Given the description of an element on the screen output the (x, y) to click on. 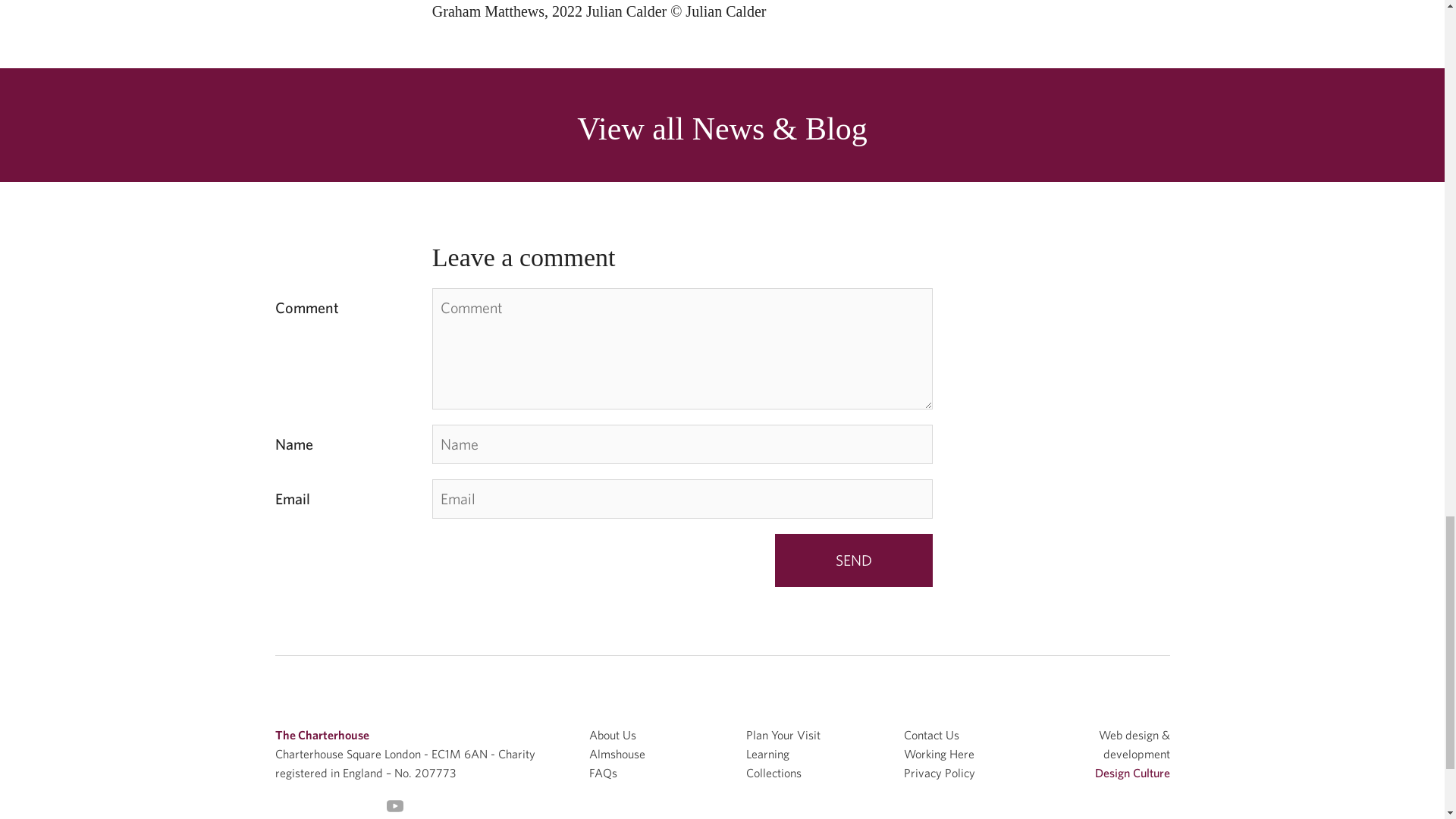
Send (853, 560)
